Given the description of an element on the screen output the (x, y) to click on. 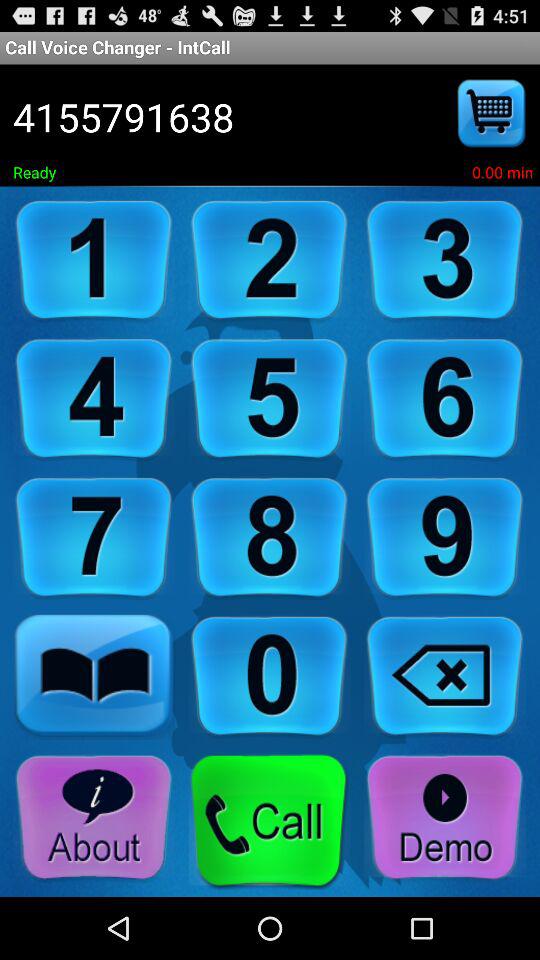
about the app (94, 818)
